Given the description of an element on the screen output the (x, y) to click on. 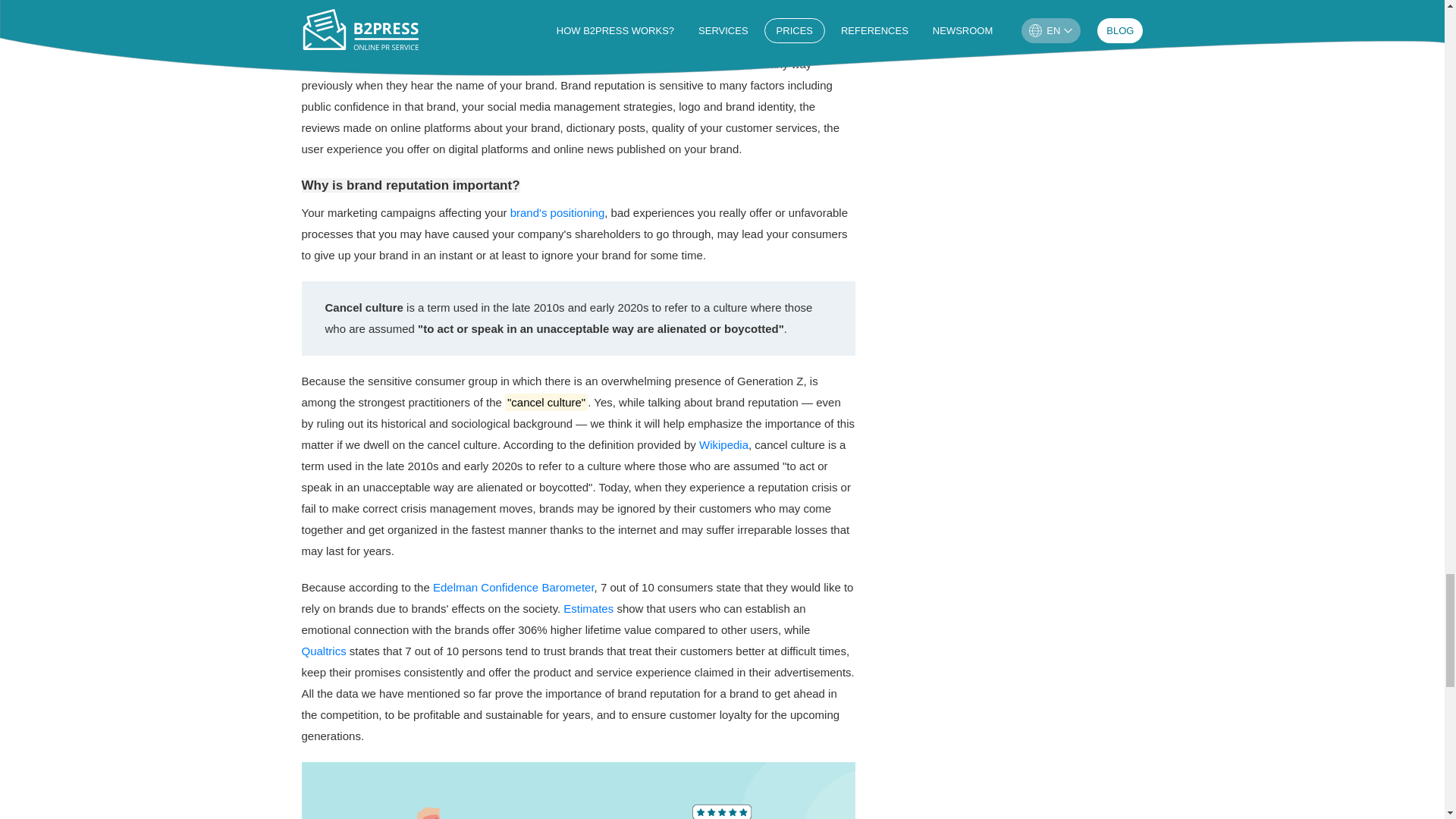
brand's positioning (558, 212)
Estimates (587, 608)
Edelman Confidence Barometer (513, 586)
Wikipedia (723, 444)
Qualtrics (323, 650)
